Given the description of an element on the screen output the (x, y) to click on. 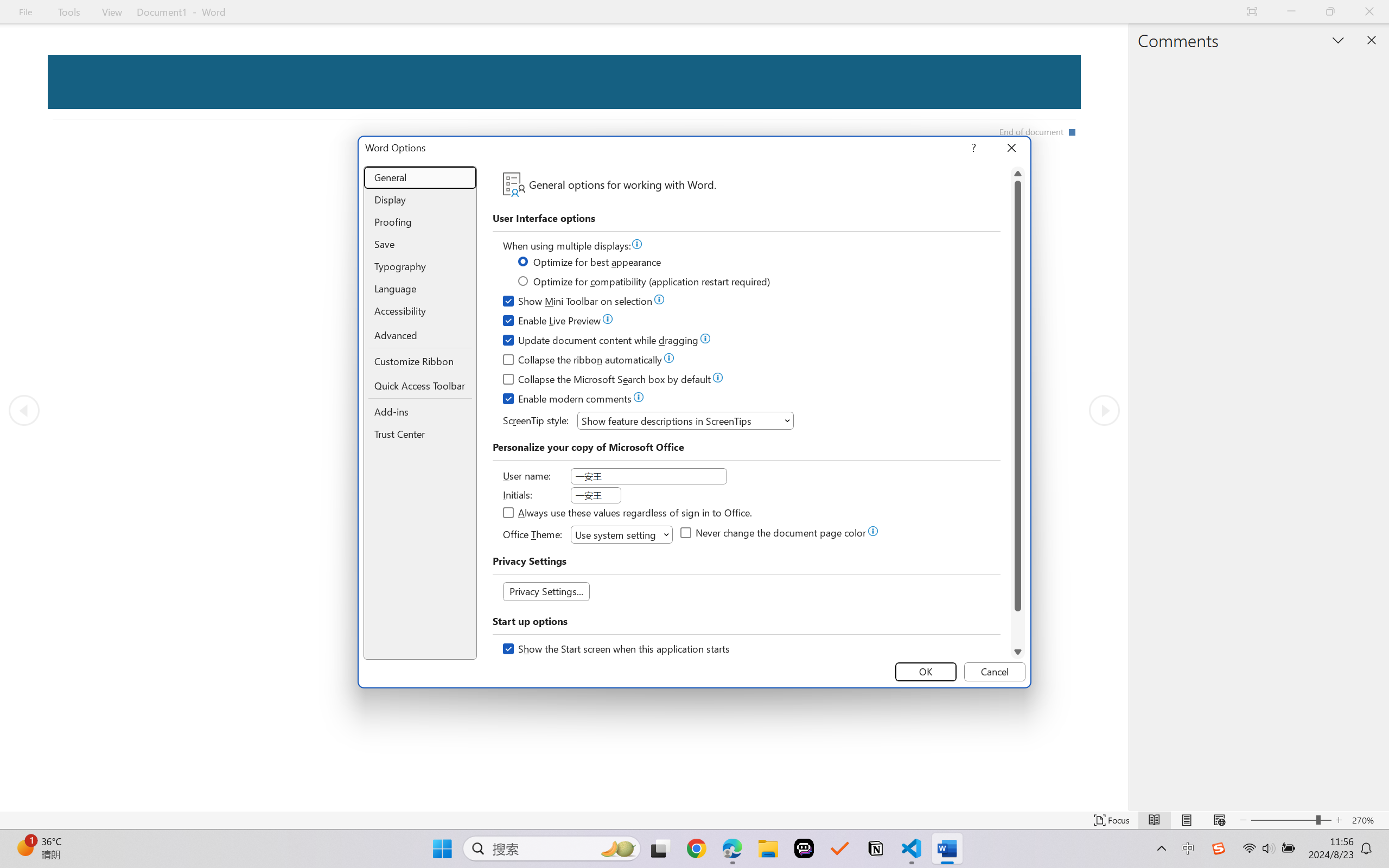
YouTube (711, 12)
Security tips (427, 109)
New Tab (1246, 12)
Sign in - Google Accounts (1202, 12)
Create your Google Account (489, 12)
Sign in - Google Accounts (42, 12)
